Given the description of an element on the screen output the (x, y) to click on. 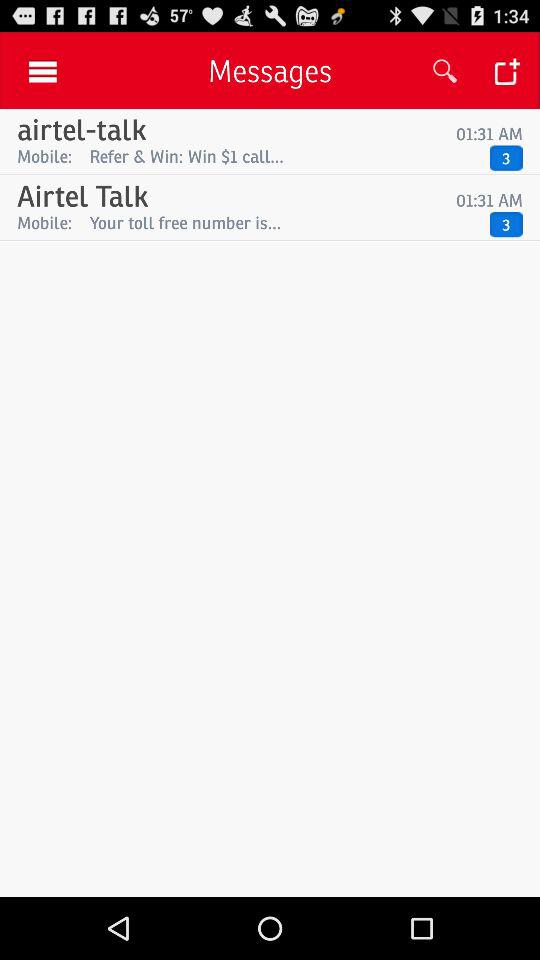
turn off the app to the left of the 3 app (284, 156)
